Given the description of an element on the screen output the (x, y) to click on. 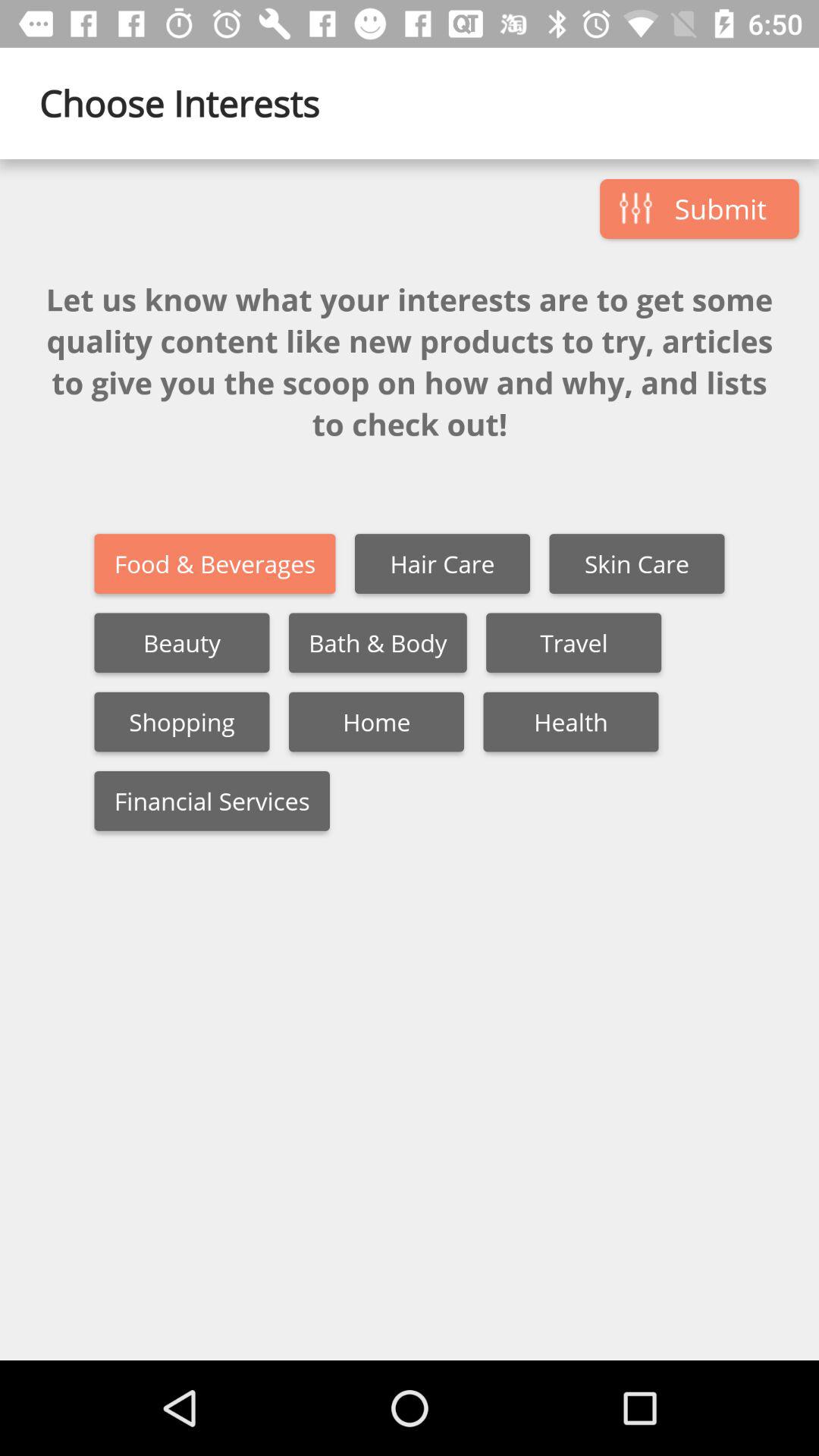
open the item below the food & beverages (377, 642)
